Given the description of an element on the screen output the (x, y) to click on. 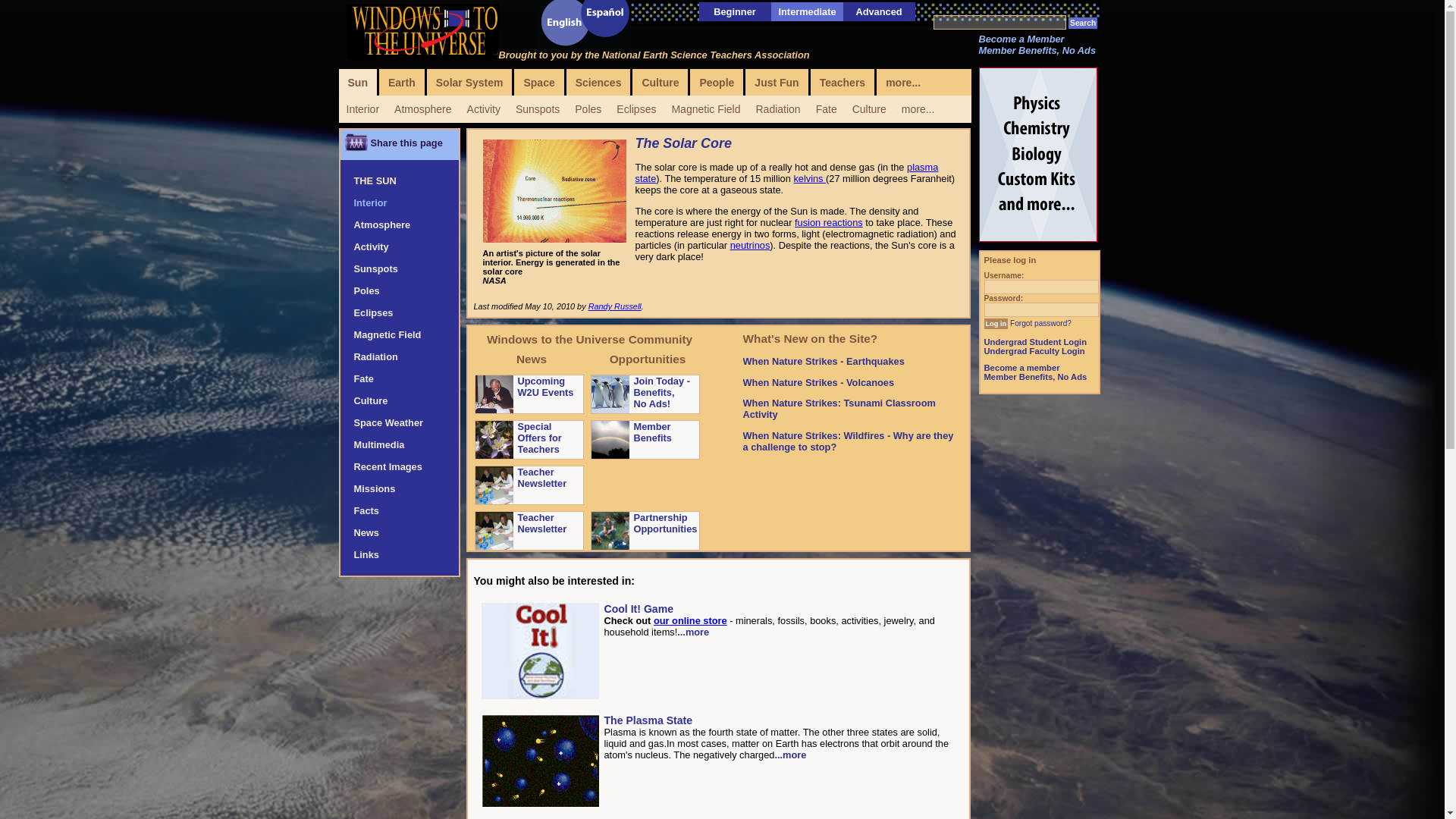
Sun (356, 82)
Advertisement (1038, 609)
Eclipses (635, 108)
Search (1082, 22)
Search (1082, 22)
Sunspots (537, 108)
Interior (362, 108)
Fate (826, 108)
Become a Member (1021, 39)
Intermediate (806, 11)
Radiation (778, 108)
Advanced (878, 11)
Culture (868, 108)
Activity (484, 108)
